Given the description of an element on the screen output the (x, y) to click on. 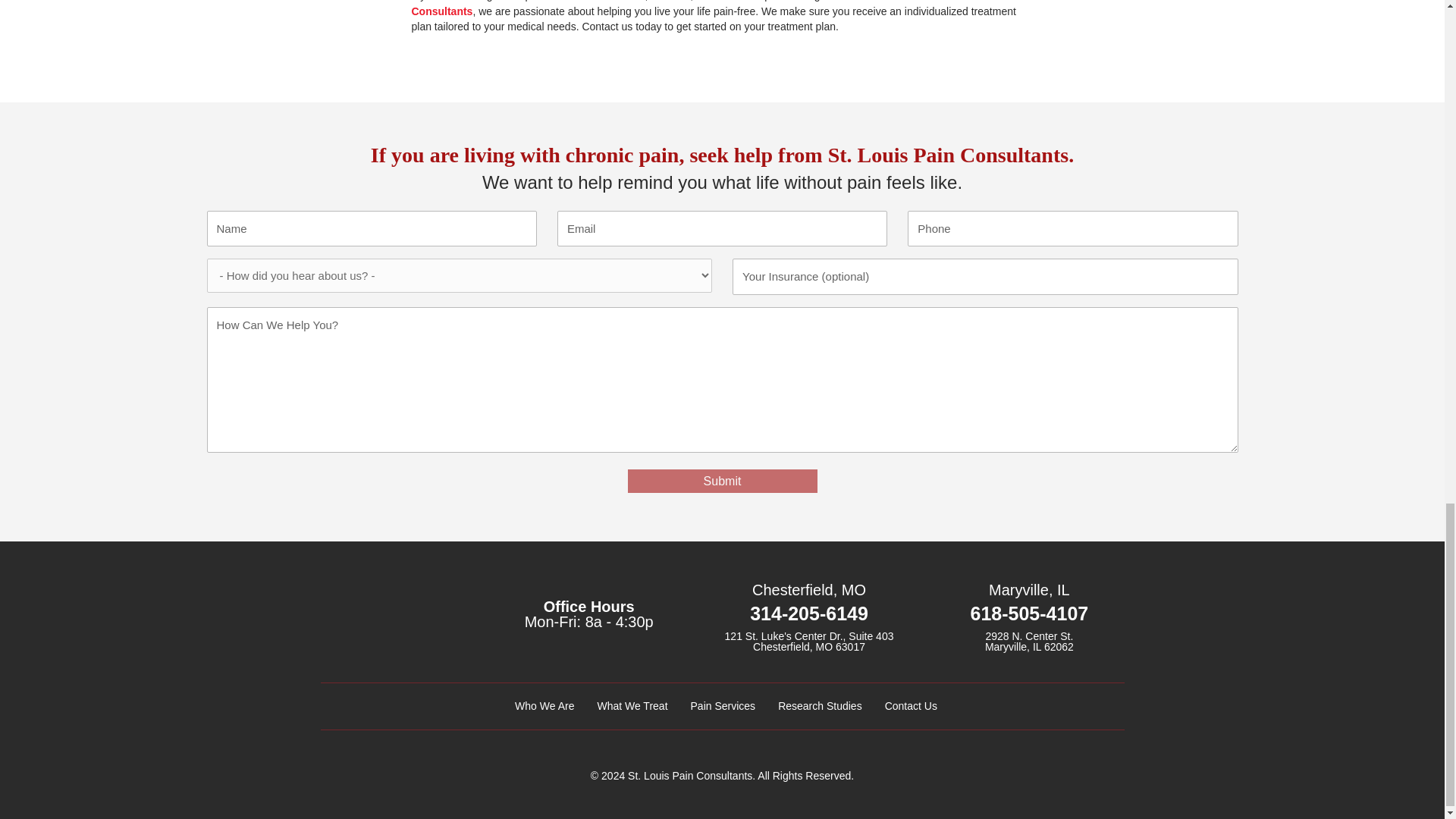
314-205-6149 (808, 613)
618-505-4107 (1030, 613)
Submit (721, 481)
stlouis-pain-consultants-white (391, 619)
